Given the description of an element on the screen output the (x, y) to click on. 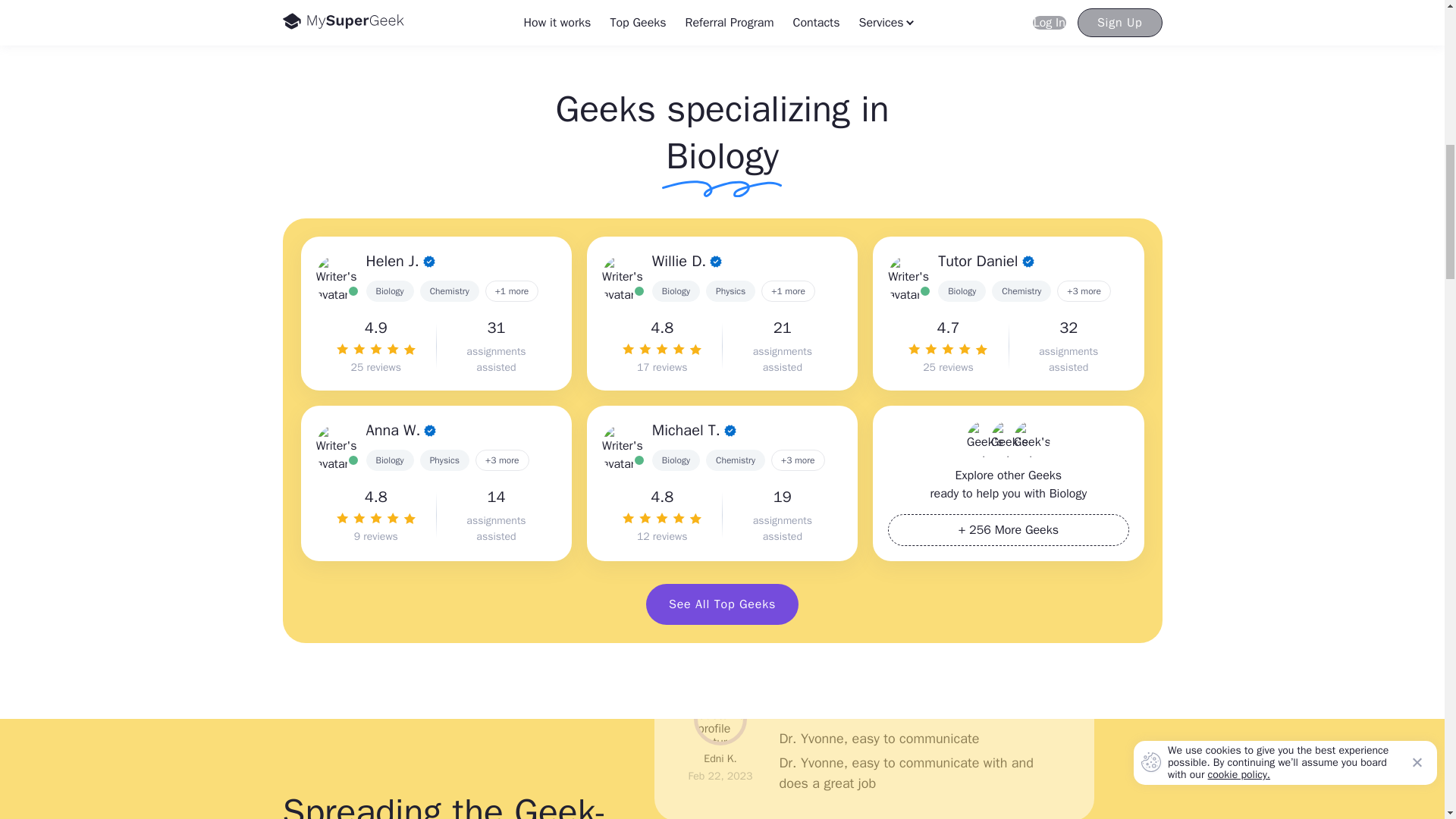
See All Top Geeks (721, 603)
View writer's profile (623, 276)
All reviews are unedited and published as is. (375, 536)
View writer's profile (336, 445)
All reviews are unedited and published as is. (662, 536)
View writer's profile (909, 276)
View writer's profile (336, 276)
